Given the description of an element on the screen output the (x, y) to click on. 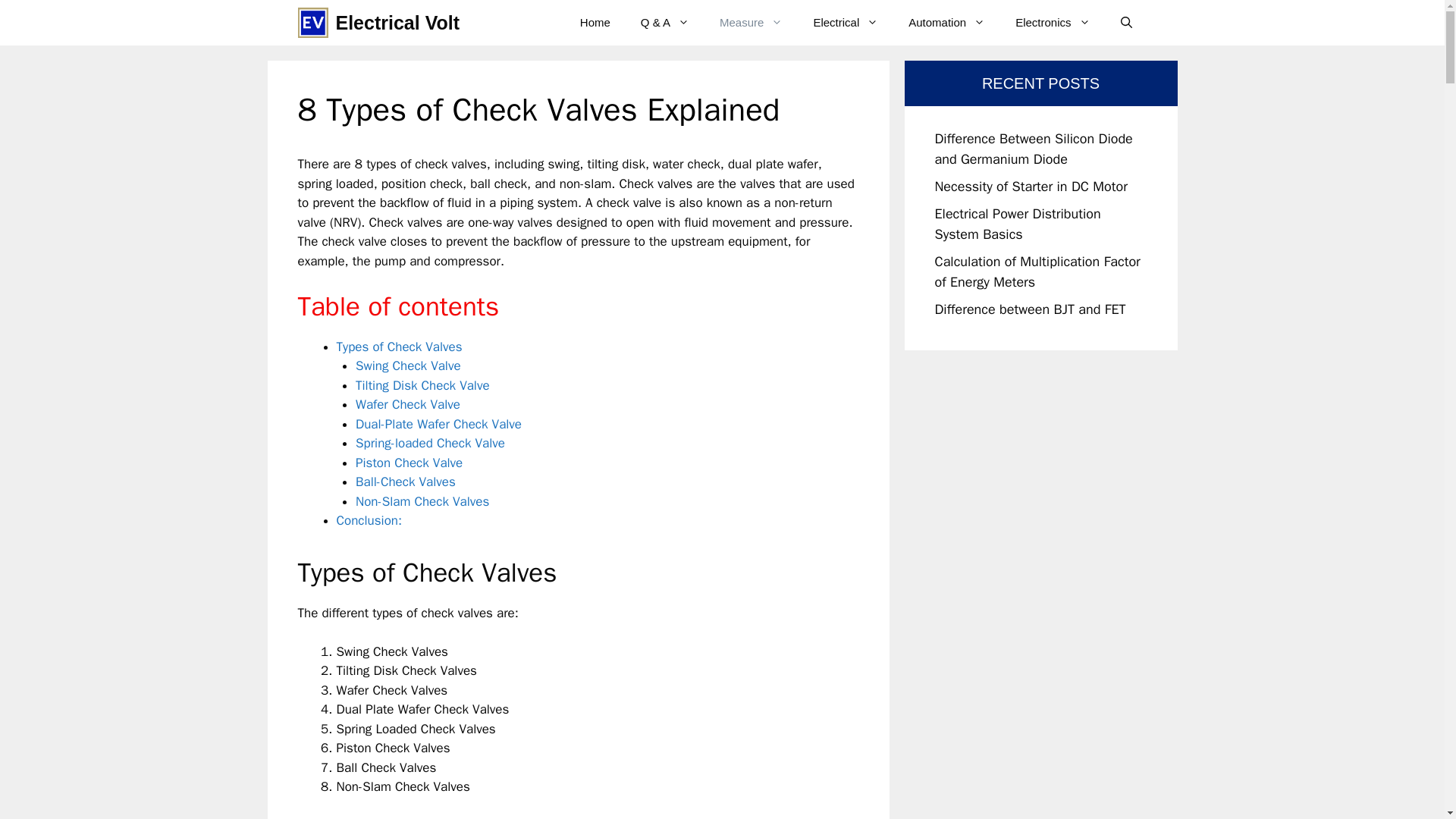
Electrical Volt (397, 22)
Electrical (845, 22)
Measure (750, 22)
Home (595, 22)
